Given the description of an element on the screen output the (x, y) to click on. 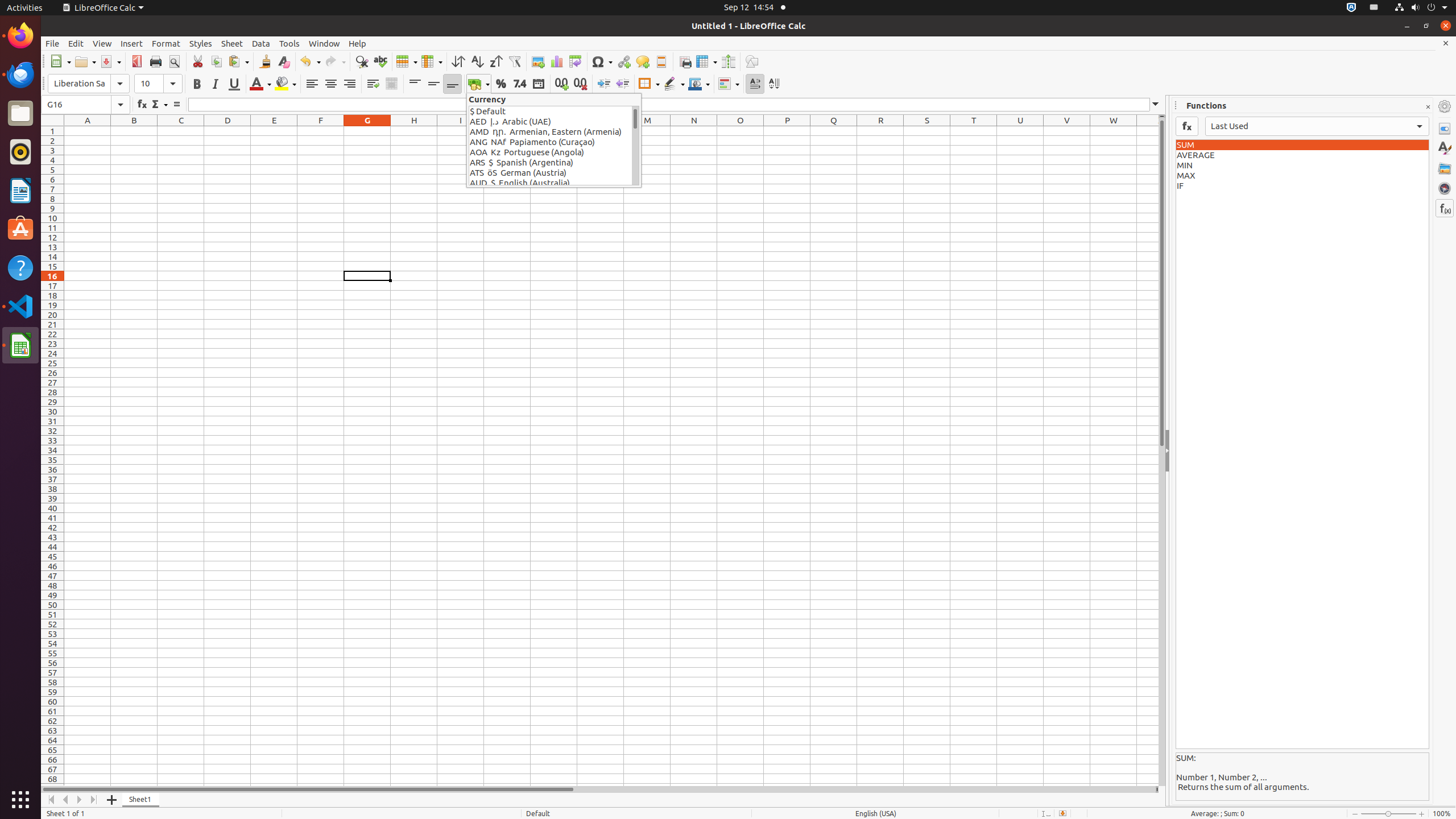
Split Window Element type: push-button (727, 61)
Undo Element type: push-button (309, 61)
Add Decimal Place Element type: push-button (561, 83)
Align Center Element type: push-button (330, 83)
Italic Element type: toggle-button (214, 83)
